Given the description of an element on the screen output the (x, y) to click on. 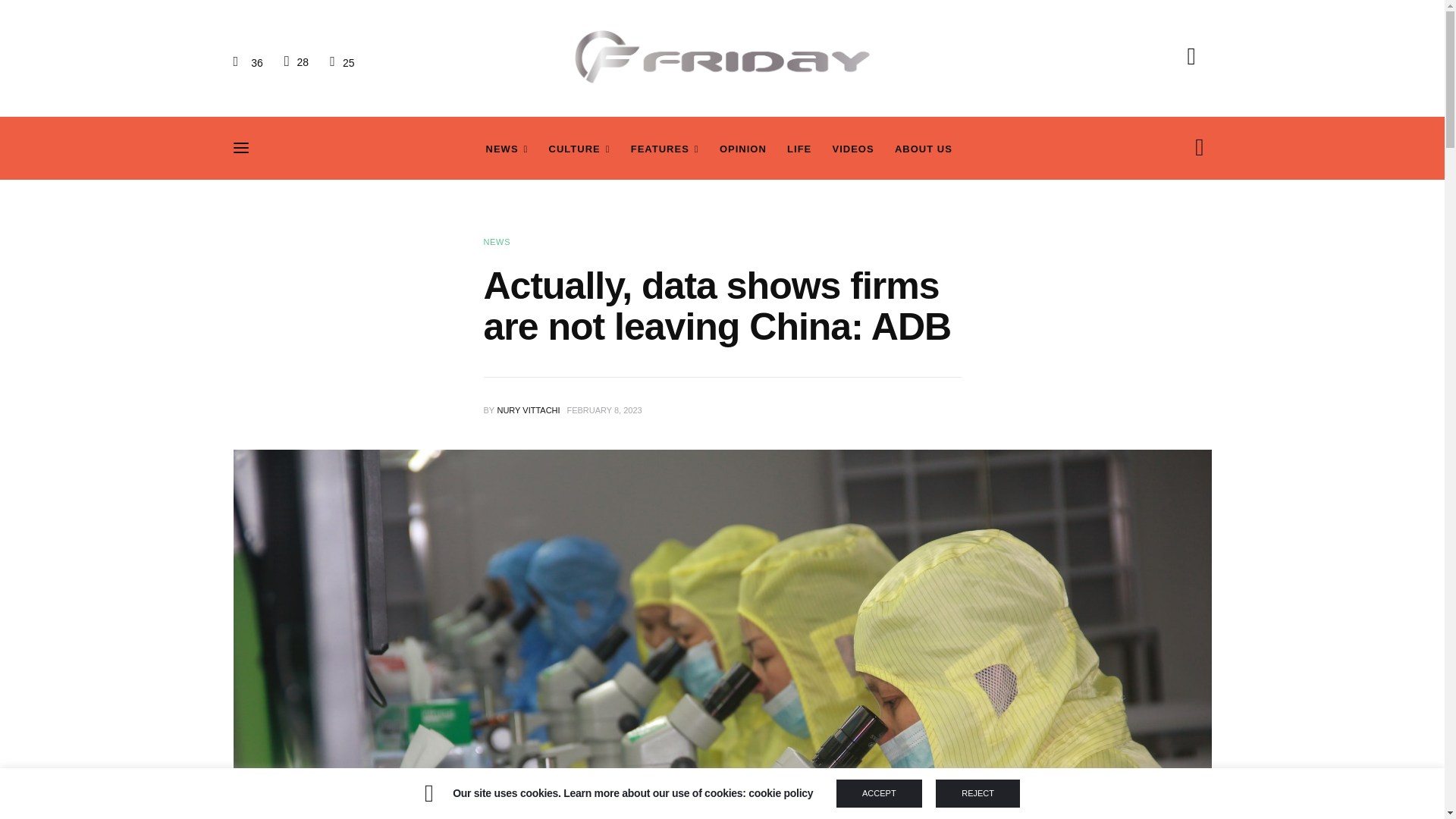
25 (341, 62)
CULTURE (579, 149)
36 (249, 62)
FEATURES (664, 149)
28 (296, 61)
NEWS (507, 149)
